Given the description of an element on the screen output the (x, y) to click on. 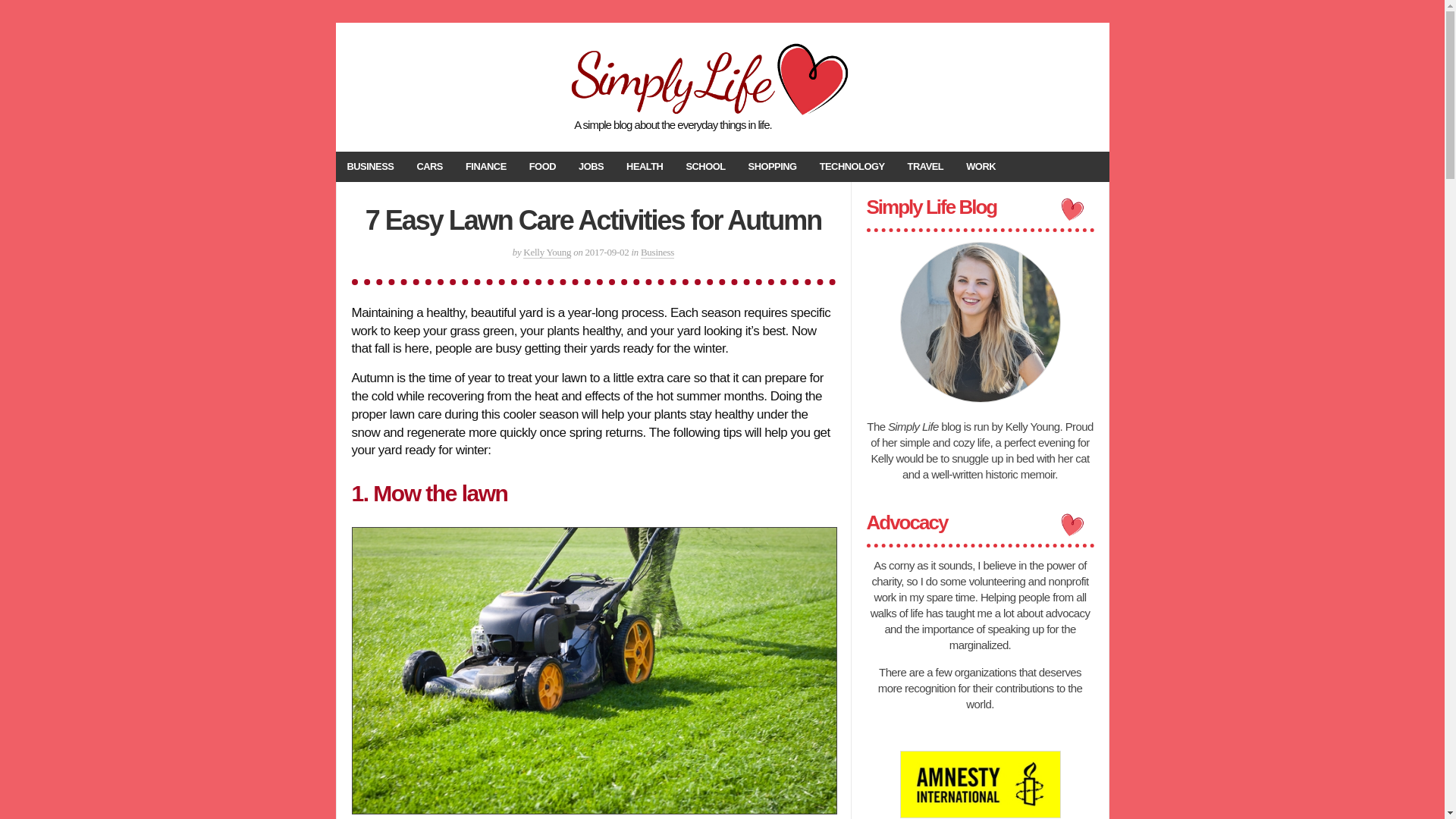
FOOD (542, 166)
JOBS (590, 166)
TRAVEL (925, 166)
BUSINESS (369, 166)
2017-09-02 (606, 251)
SCHOOL (705, 166)
HEALTH (644, 166)
Kelly Young (546, 252)
WORK (981, 166)
CARS (429, 166)
